Given the description of an element on the screen output the (x, y) to click on. 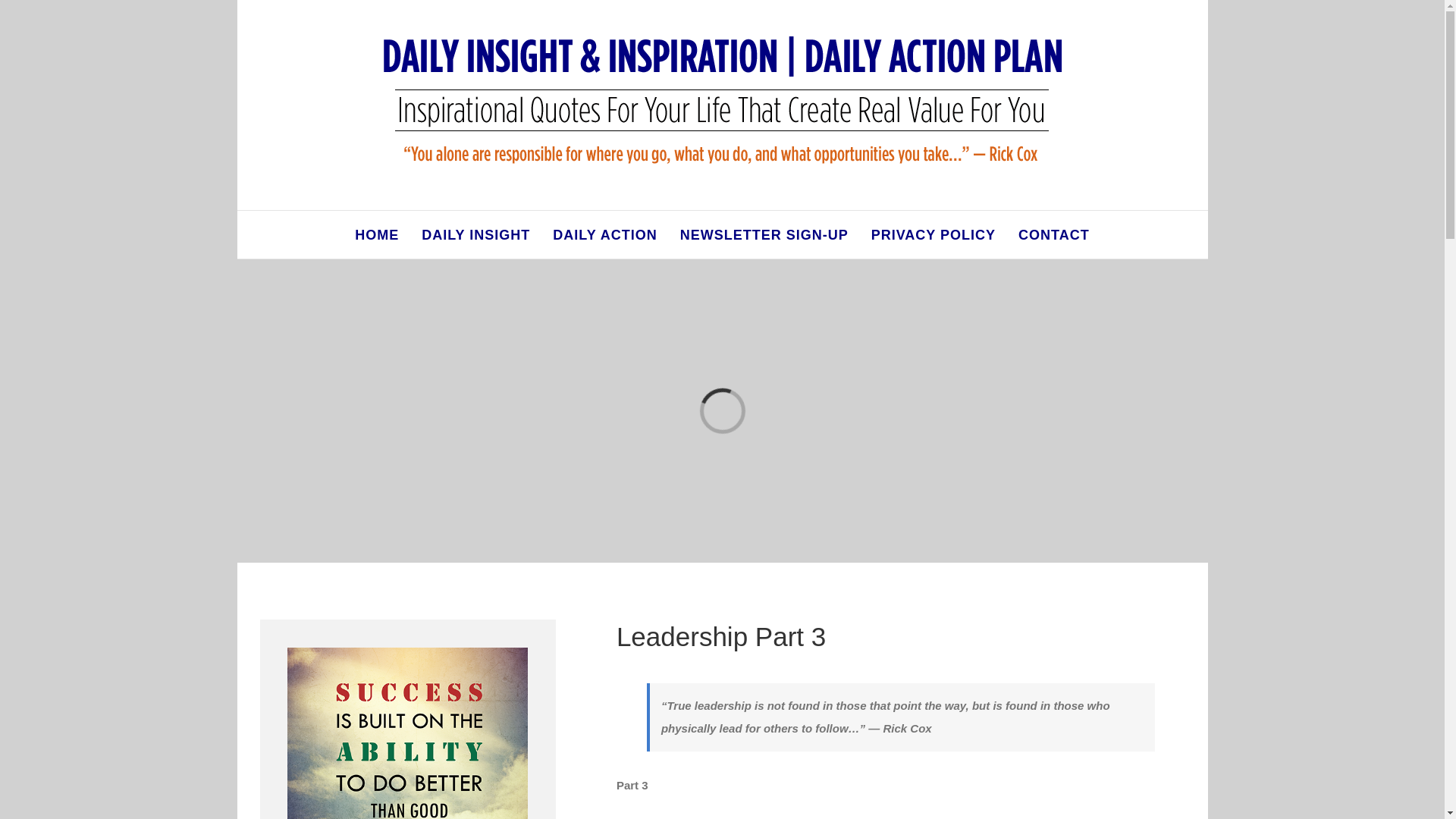
PRIVACY POLICY (932, 234)
DAILY INSIGHT (475, 234)
NEWSLETTER SIGN-UP (763, 234)
CONTACT (1053, 234)
DAILY ACTION (604, 234)
HOME (376, 234)
